Given the description of an element on the screen output the (x, y) to click on. 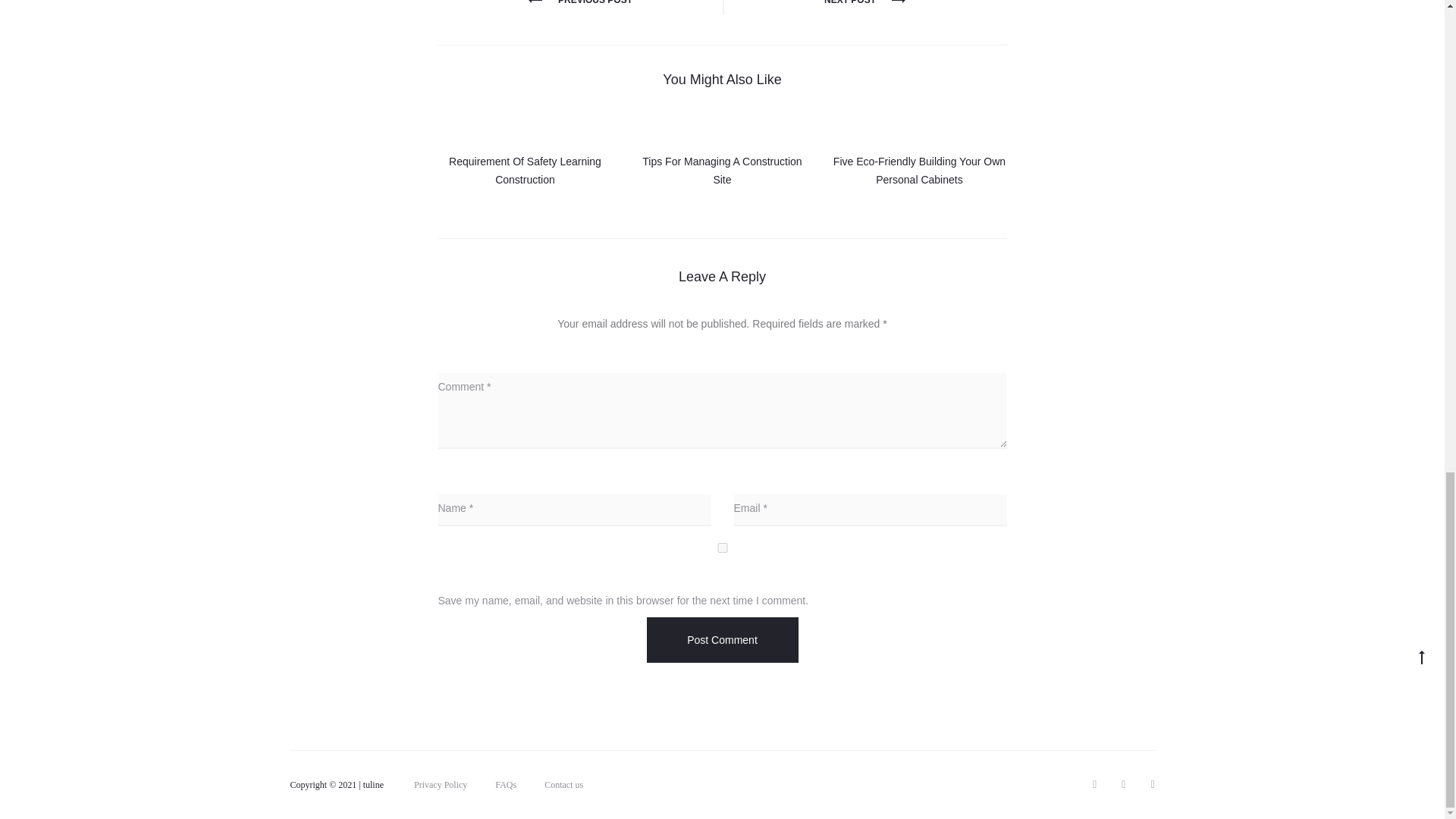
PREVIOUS POST (579, 2)
yes (722, 547)
Requirement Of Safety Learning Construction (524, 170)
NEXT POST (864, 2)
Privacy Policy (440, 784)
Contact us (563, 784)
Tips For Managing A Construction Site (722, 170)
FAQs (505, 784)
Post Comment (721, 639)
Post Comment (721, 639)
